Given the description of an element on the screen output the (x, y) to click on. 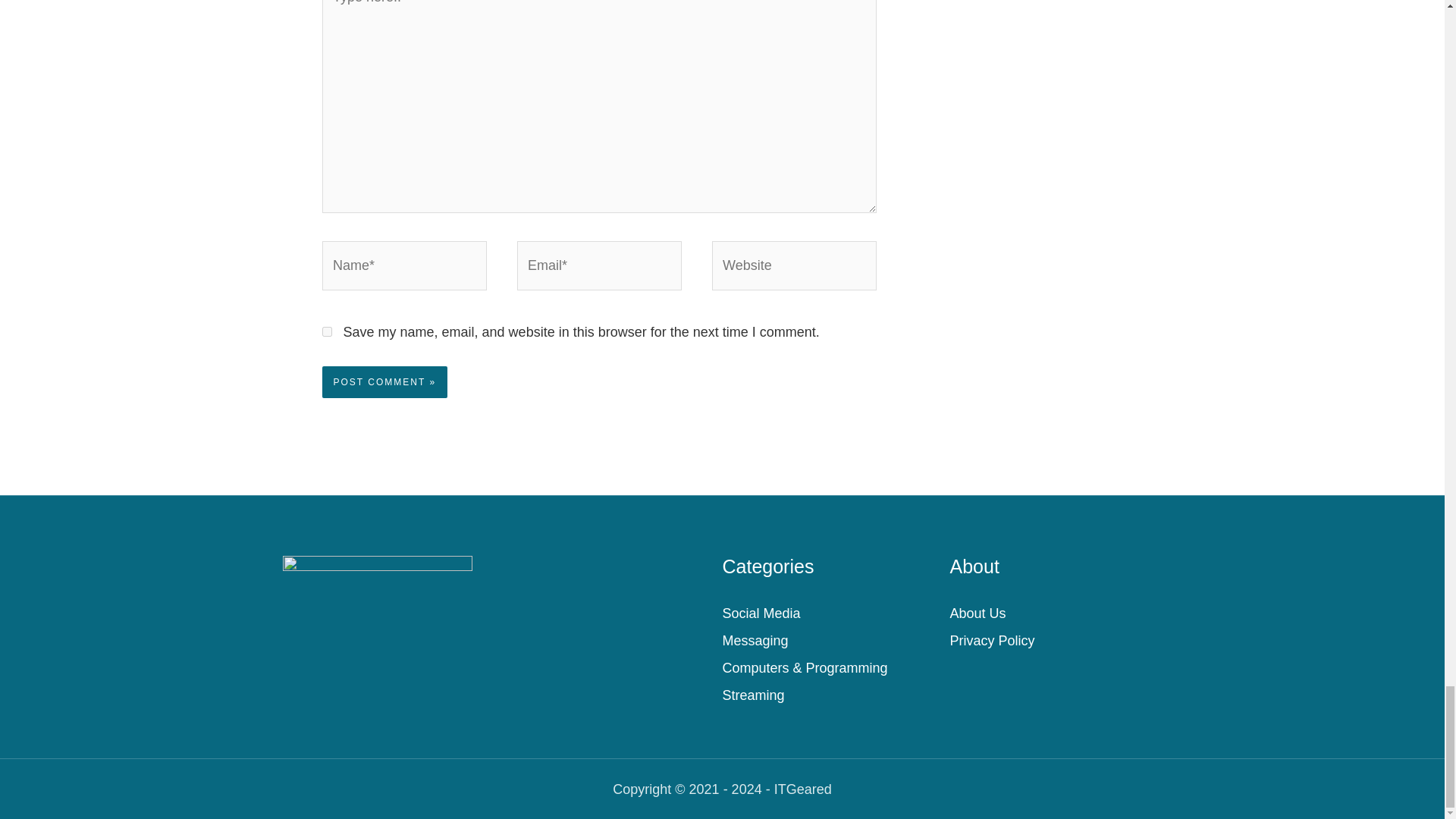
yes (326, 331)
